Given the description of an element on the screen output the (x, y) to click on. 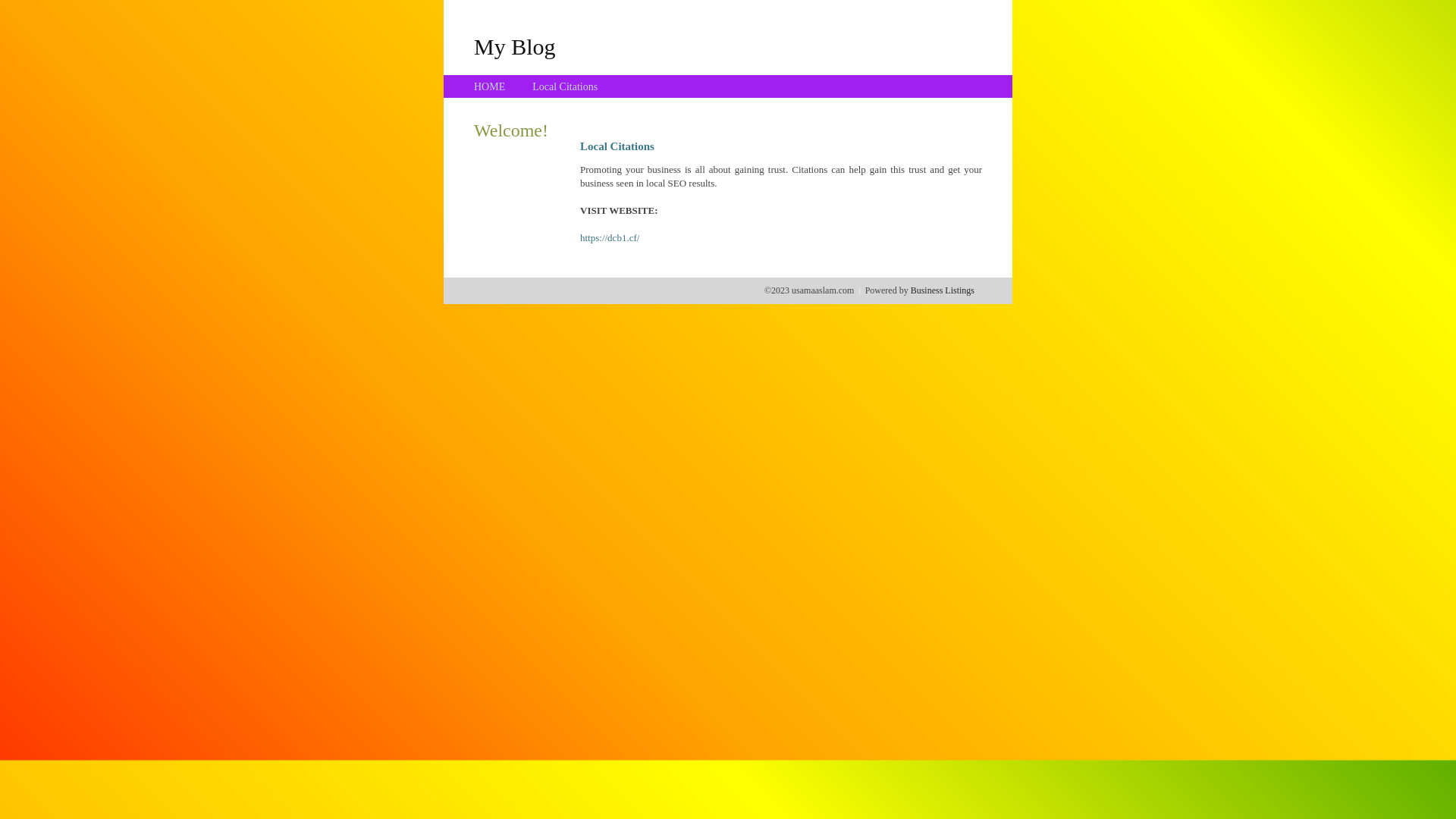
https://dcb1.cf/ Element type: text (609, 237)
My Blog Element type: text (514, 46)
Business Listings Element type: text (942, 290)
Local Citations Element type: text (564, 86)
HOME Element type: text (489, 86)
